Given the description of an element on the screen output the (x, y) to click on. 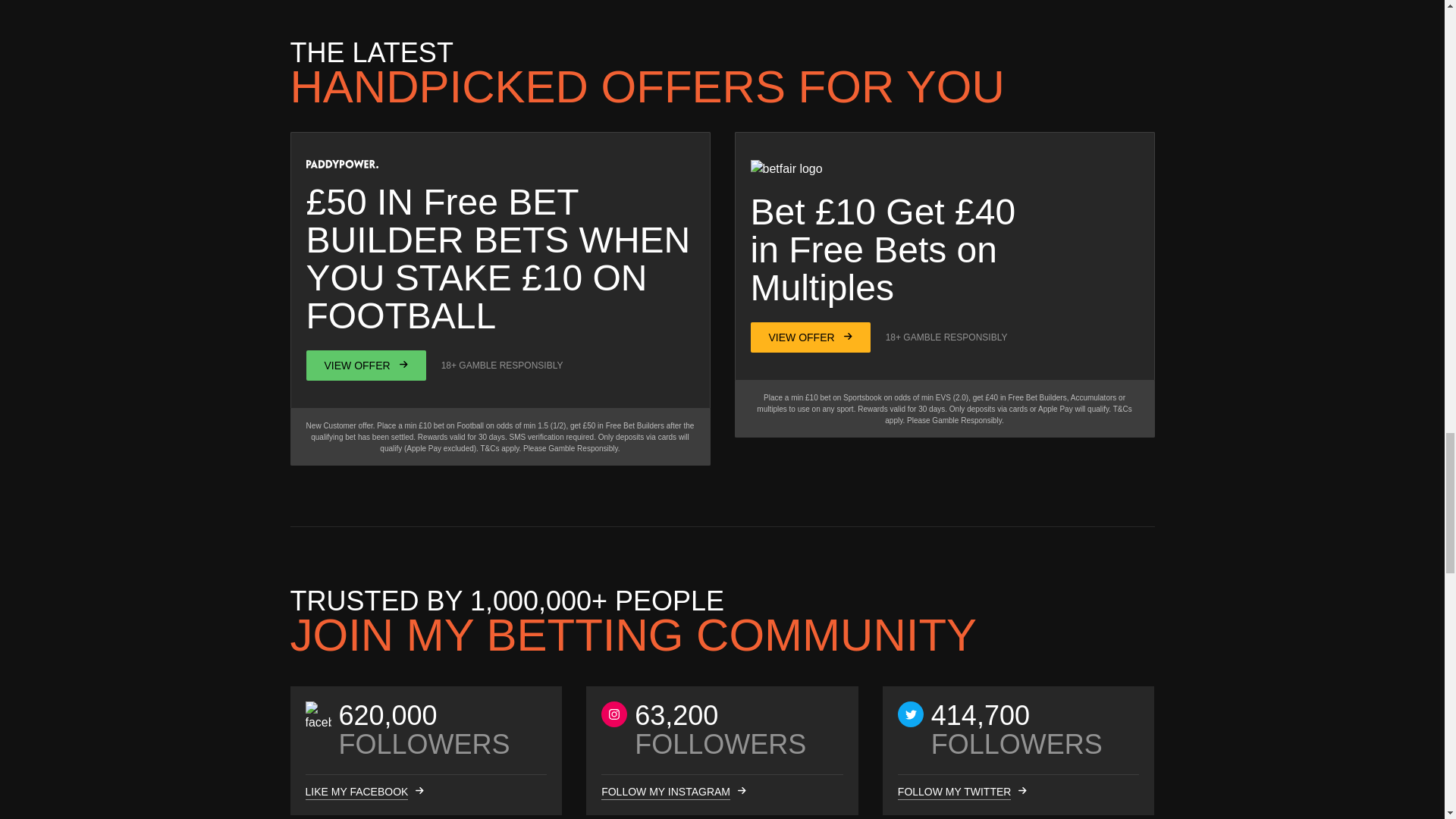
Free Bets (867, 250)
FOLLOW MY INSTAGRAM (665, 791)
LIKE MY FACEBOOK (355, 791)
FOLLOW MY TWITTER (954, 791)
VIEW OFFER (365, 365)
VIEW OFFER (810, 337)
